Given the description of an element on the screen output the (x, y) to click on. 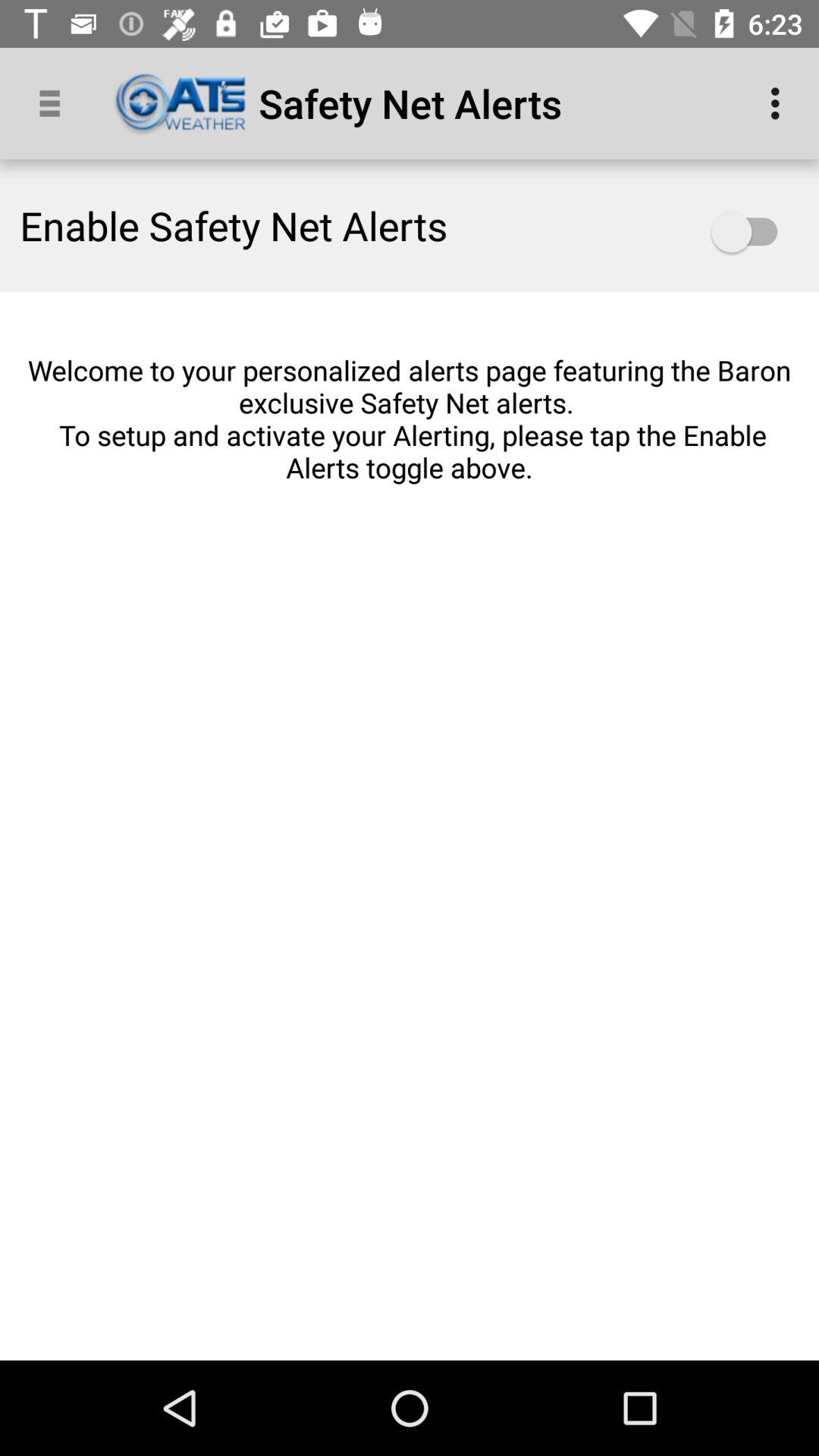
turn off app next to safety net alerts app (779, 103)
